Given the description of an element on the screen output the (x, y) to click on. 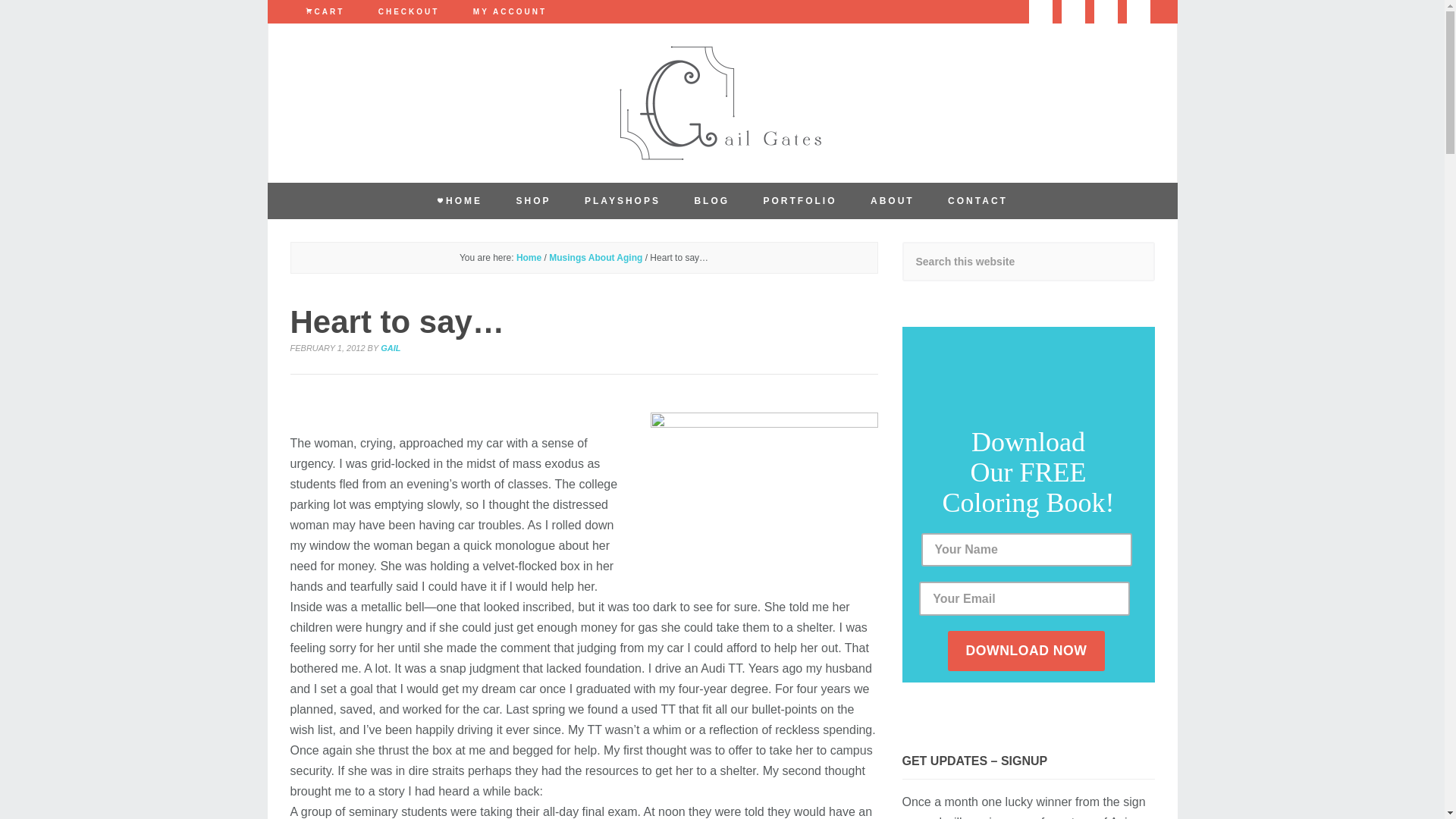
Home (528, 257)
GAIL (390, 347)
HOME (459, 200)
ABOUT (893, 200)
MY ACCOUNT (510, 11)
CART (324, 11)
CHECKOUT (408, 11)
Download Now (1026, 650)
CONTACT (978, 200)
